Given the description of an element on the screen output the (x, y) to click on. 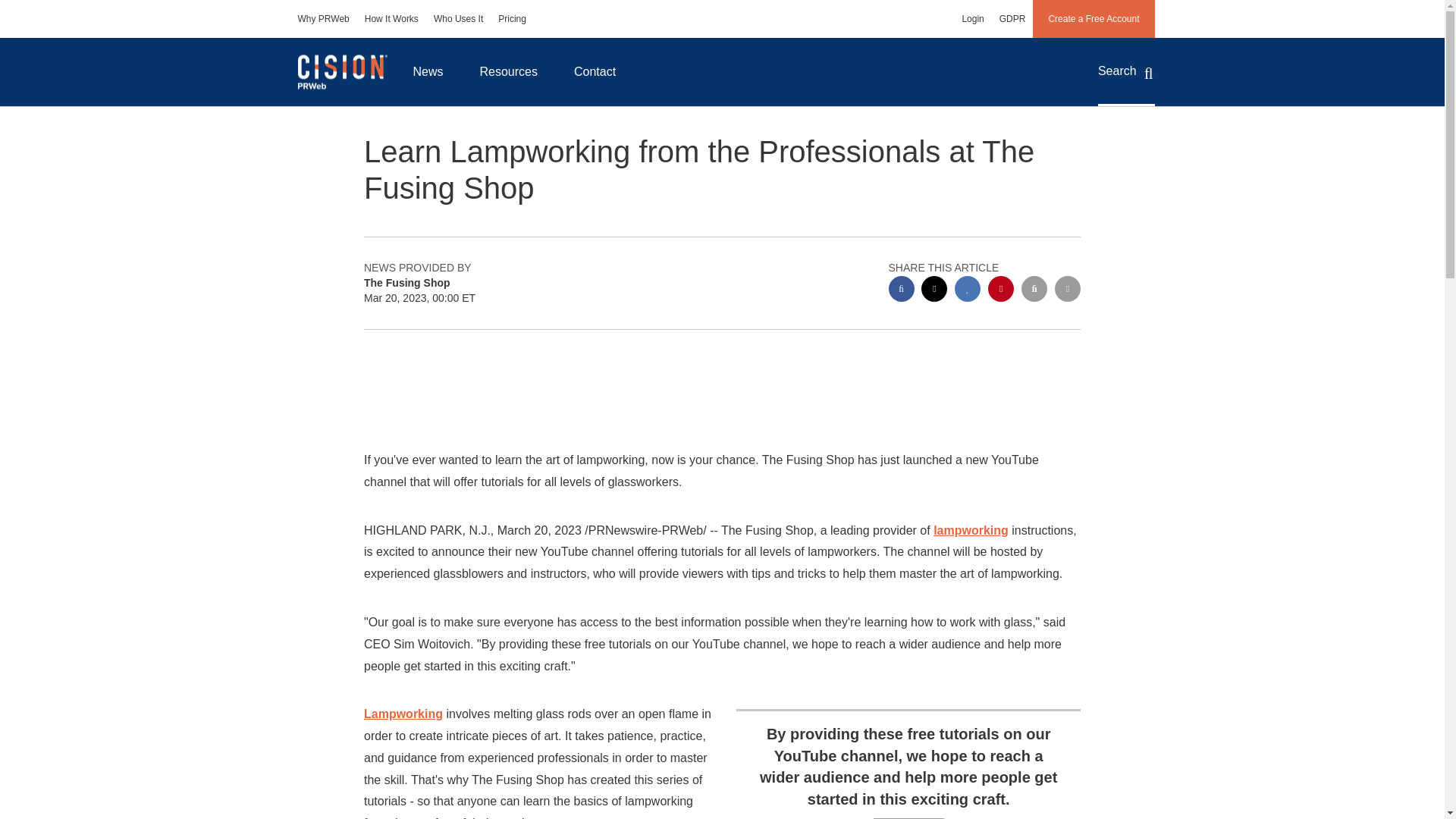
News (427, 71)
GDPR (1012, 18)
Why PRWeb (322, 18)
Resources (508, 71)
Contact (594, 71)
Create a Free Account (1093, 18)
Who Uses It (458, 18)
Login (972, 18)
How It Works (391, 18)
